Given the description of an element on the screen output the (x, y) to click on. 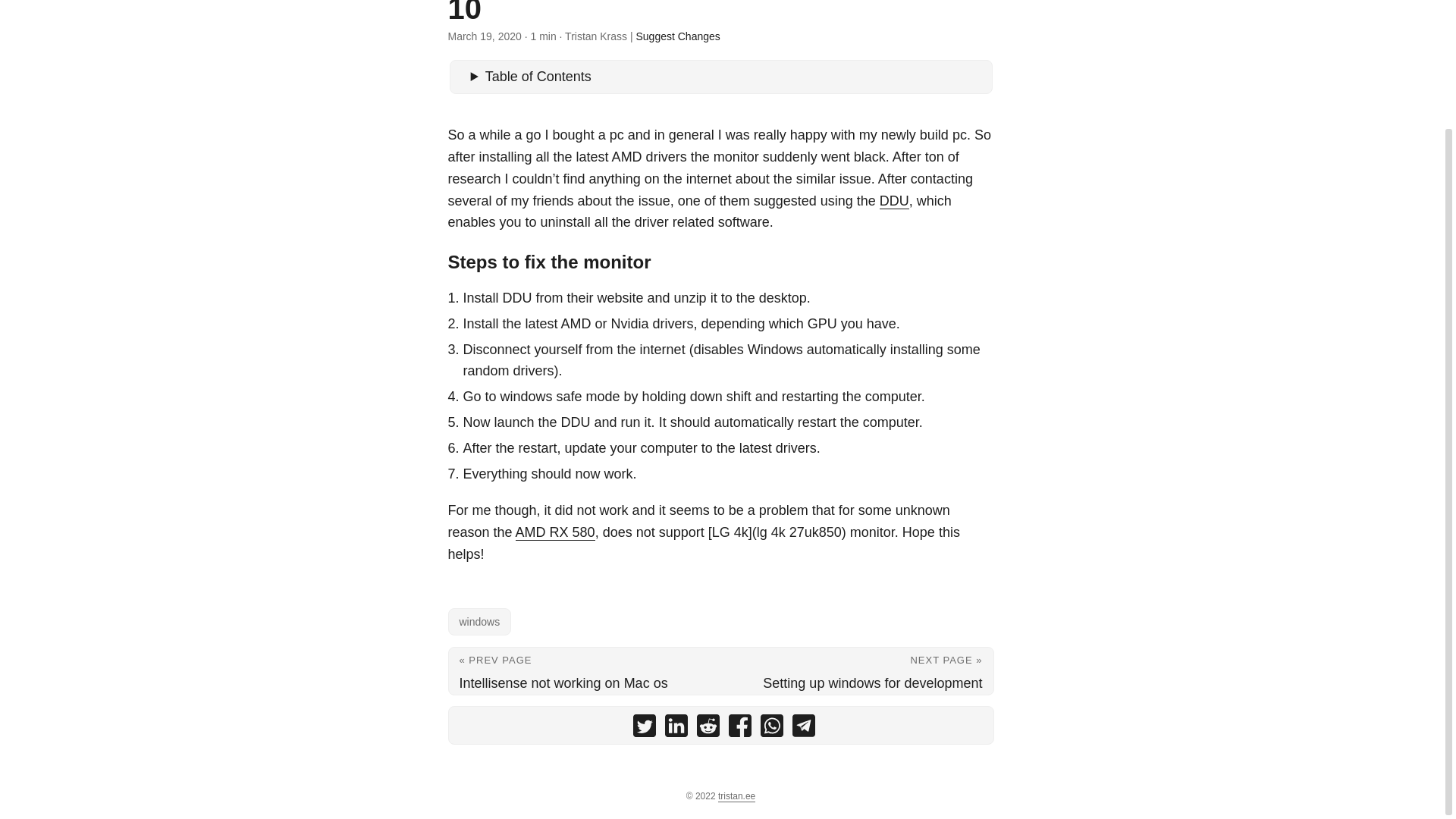
DDU (893, 200)
tristan.ee (736, 796)
AMD RX 580 (555, 531)
Suggest Changes (676, 36)
windows (478, 621)
